Given the description of an element on the screen output the (x, y) to click on. 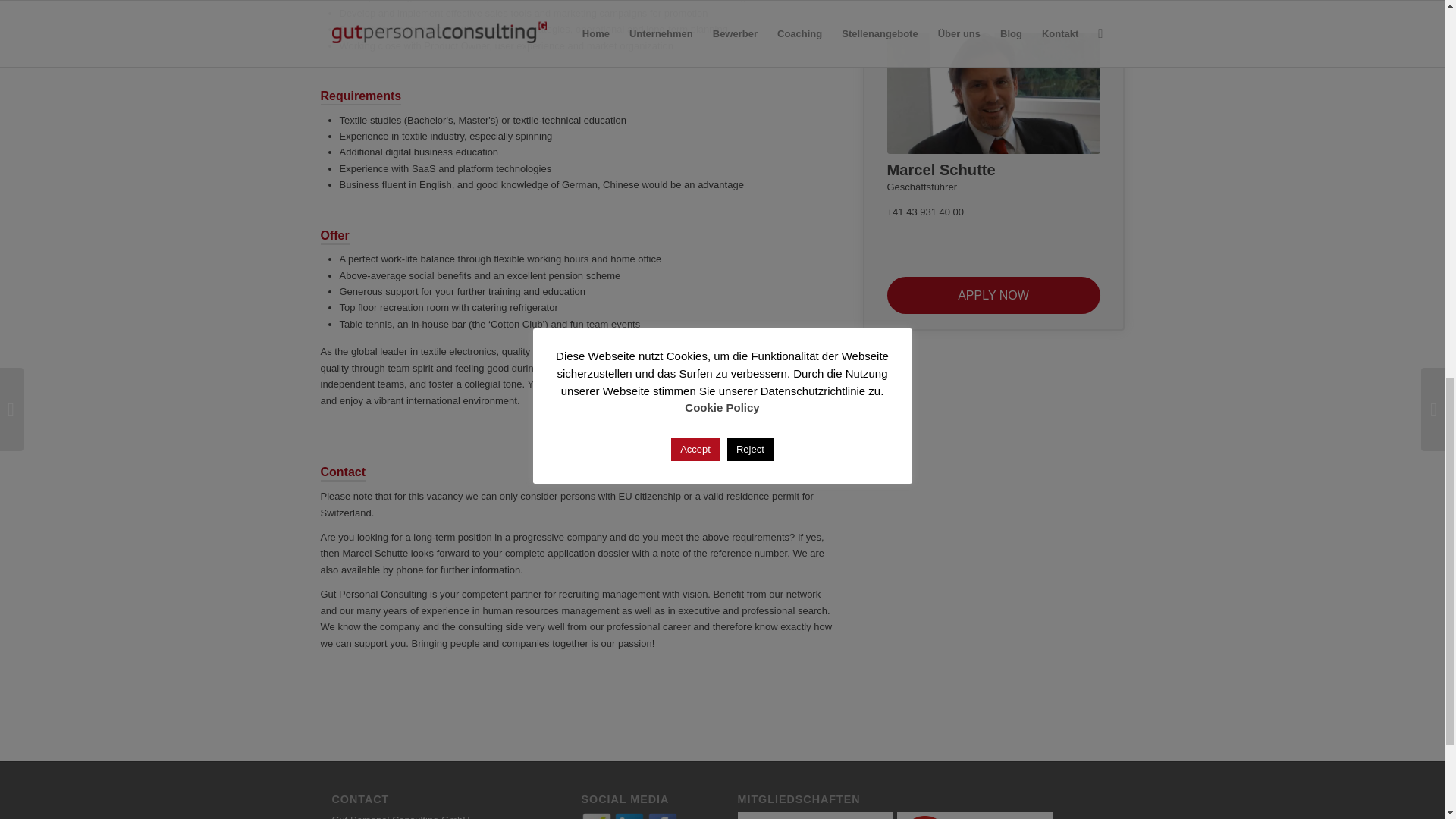
APPLY NOW (993, 294)
